Given the description of an element on the screen output the (x, y) to click on. 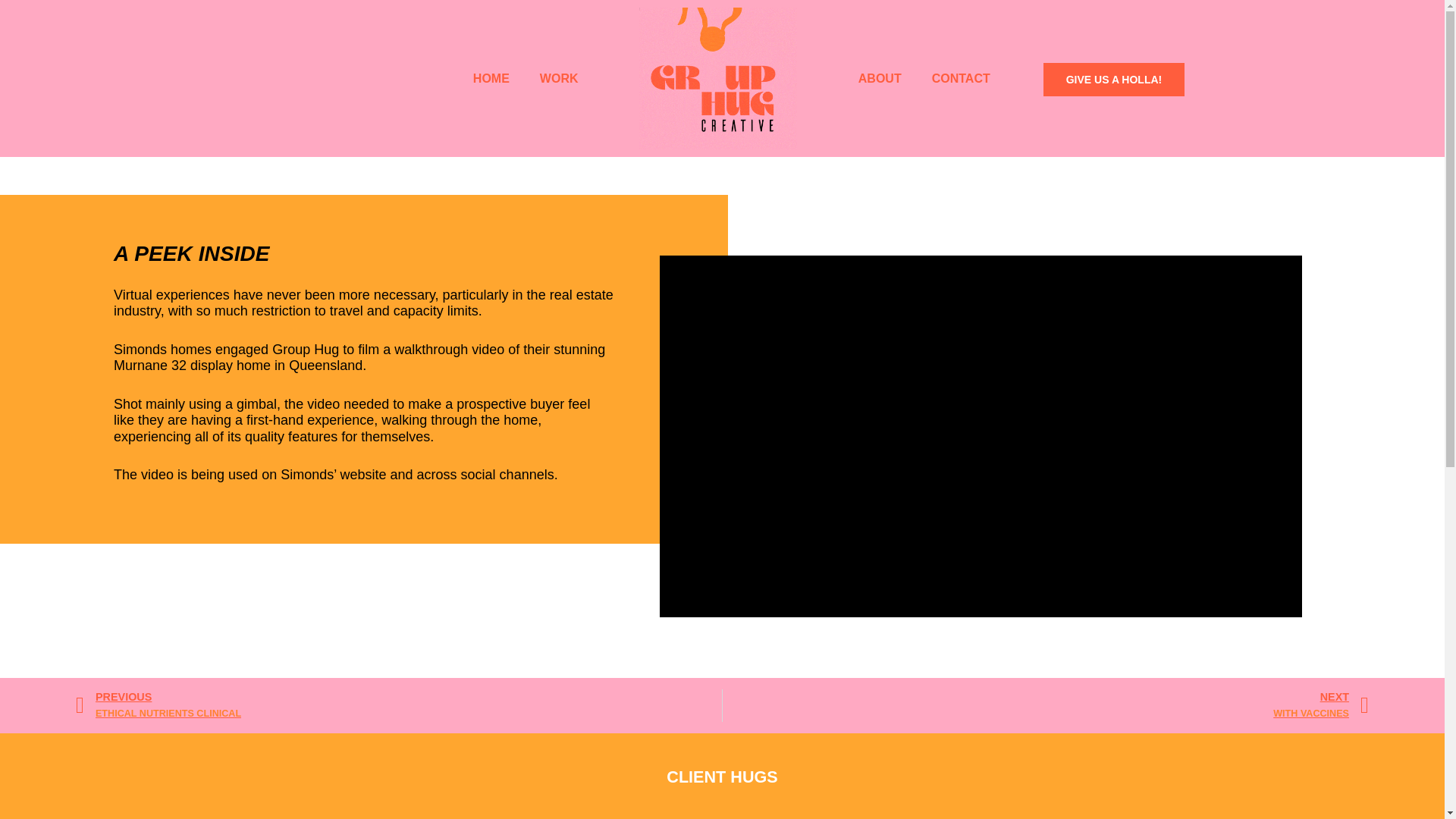
WORK (398, 705)
CONTACT (1045, 705)
vimeo Video Player (559, 78)
ABOUT (961, 78)
HOME (880, 78)
